Given the description of an element on the screen output the (x, y) to click on. 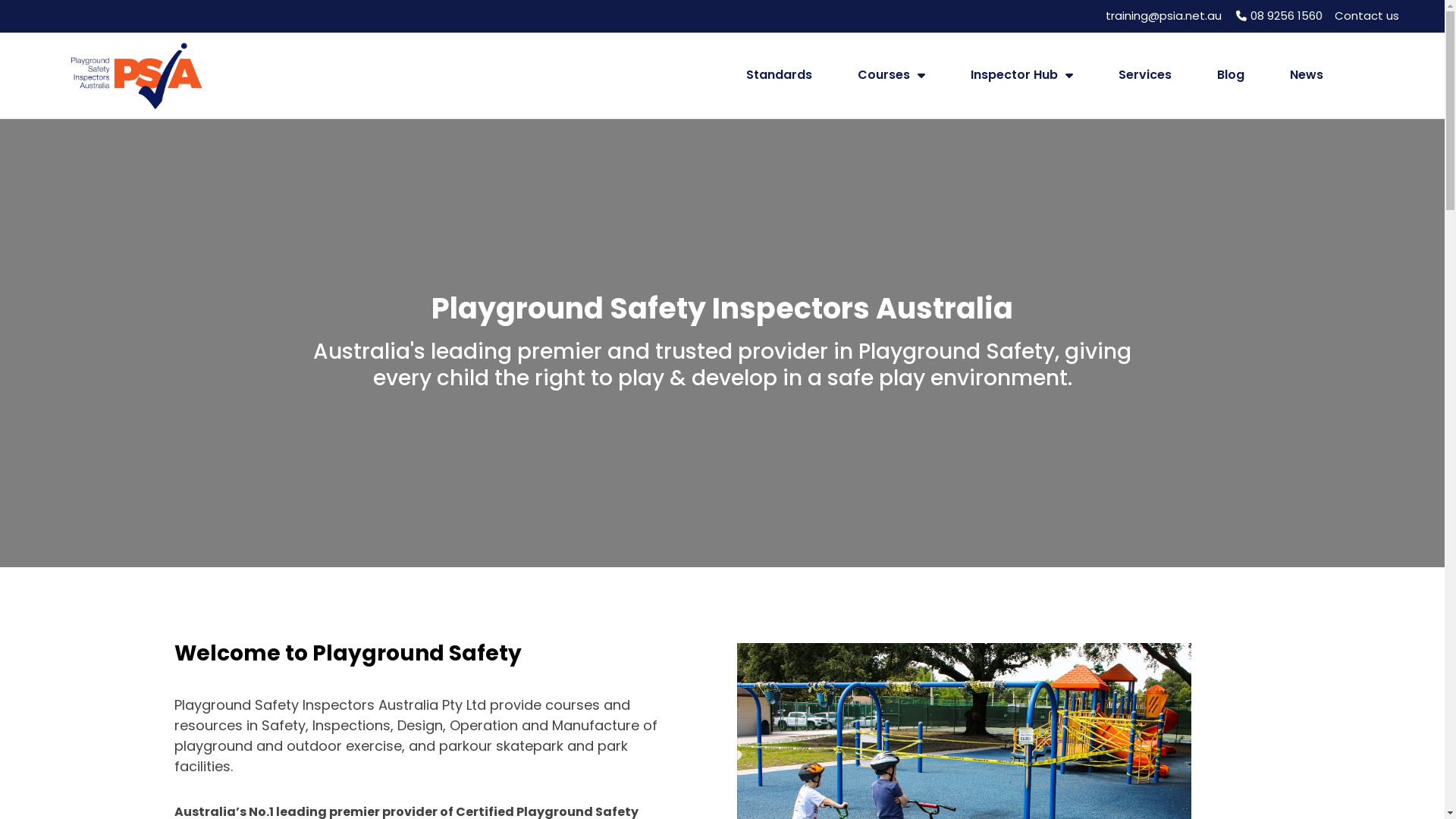
News Element type: text (1306, 74)
Standards Element type: text (779, 74)
Blog Element type: text (1230, 74)
Contact us Element type: text (1366, 16)
08 9256 1560 Element type: text (1277, 16)
Courses Element type: text (891, 74)
training@psia.net.au Element type: text (1163, 16)
Inspector Hub Element type: text (1021, 74)
Services Element type: text (1144, 74)
